Given the description of an element on the screen output the (x, y) to click on. 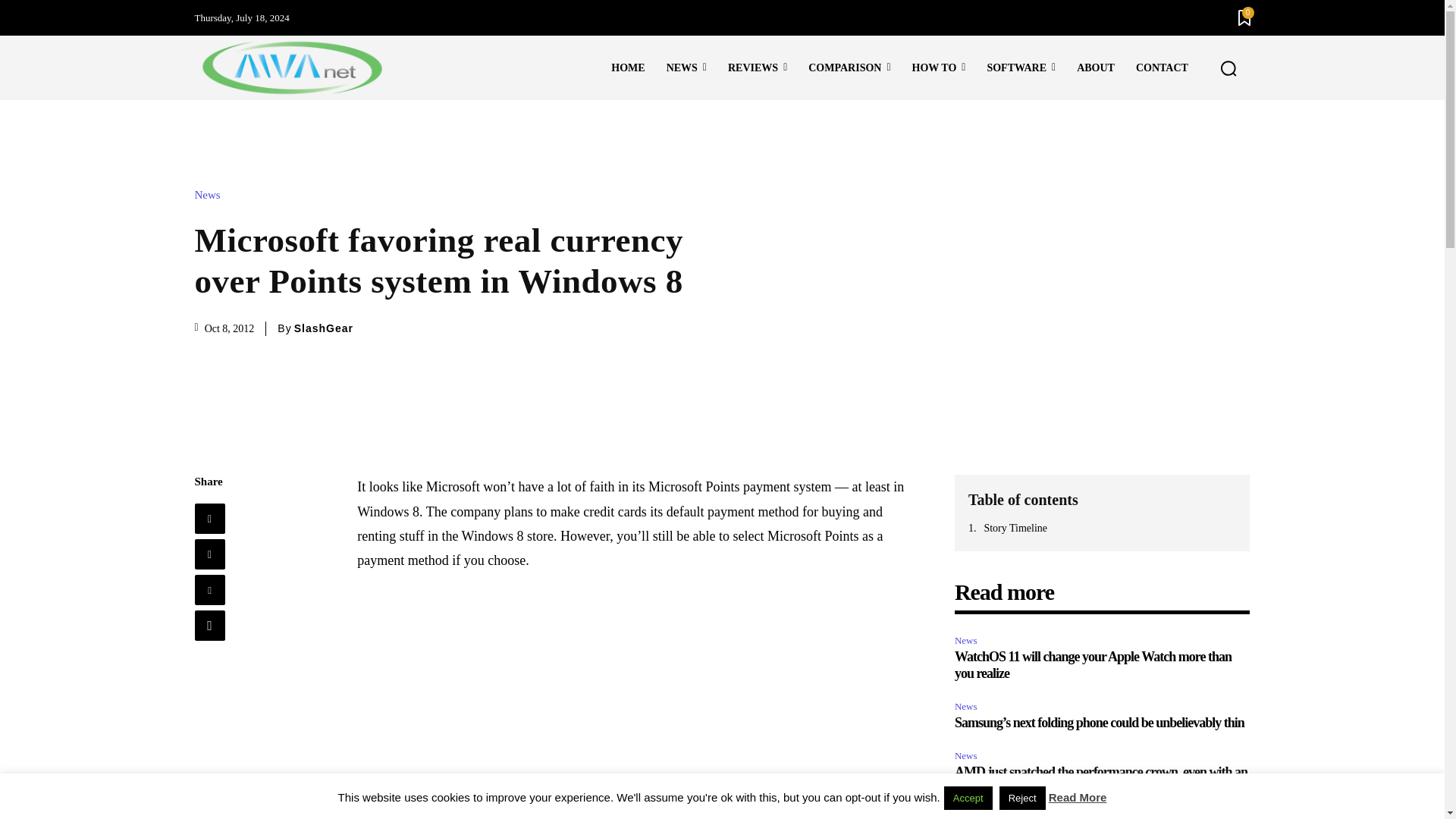
NEWS (686, 67)
HOME (627, 67)
